Given the description of an element on the screen output the (x, y) to click on. 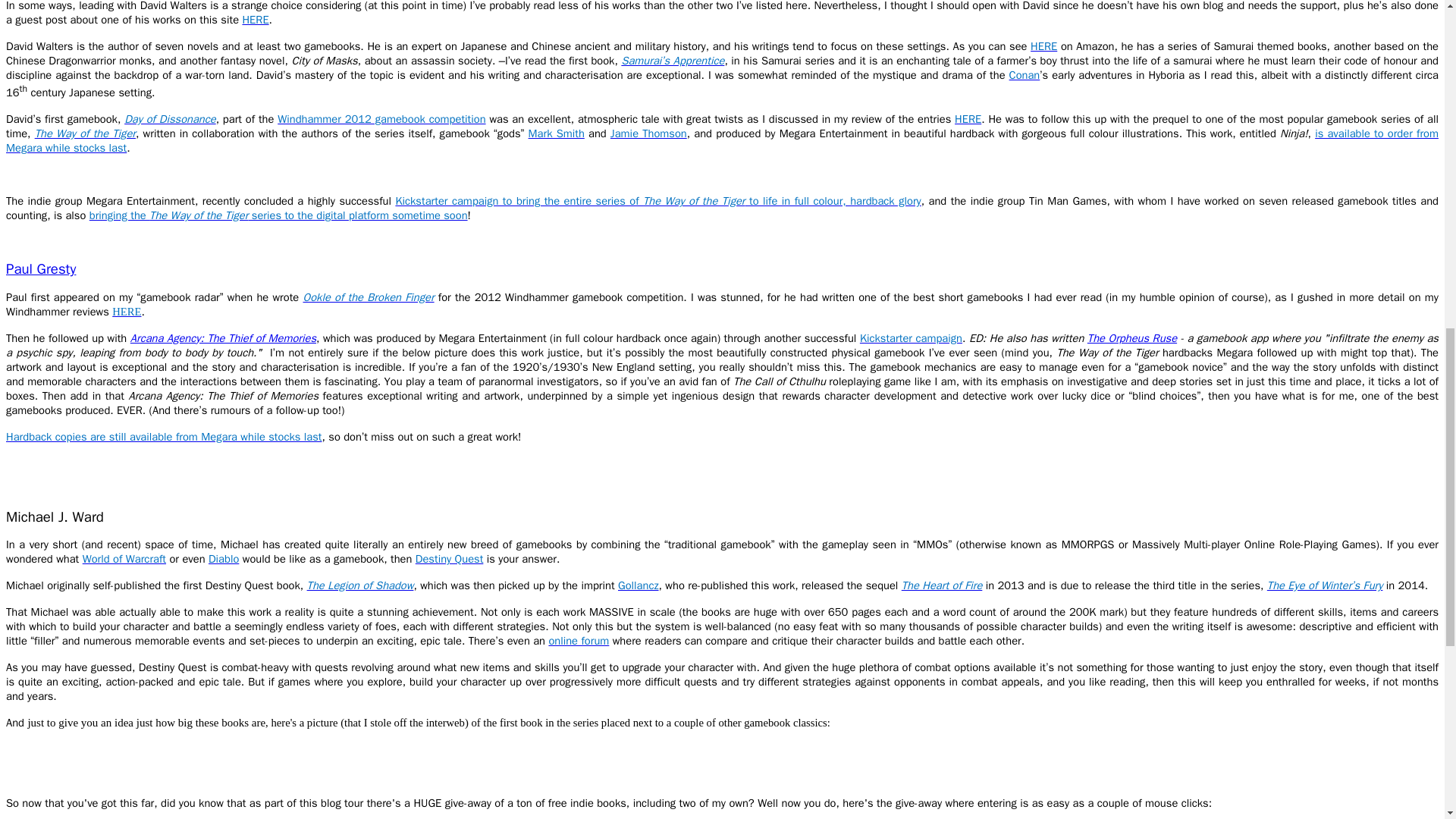
Conan (1025, 74)
Mark Smith (556, 133)
Windhammer 2012 gamebook competition (381, 119)
The Way of the Tiger (84, 133)
HERE (1043, 46)
Jamie Thomson (648, 133)
Day of Dissonance (169, 119)
HERE (968, 119)
2012 Windhammer Prize for Short Gamebook Fiction (381, 119)
Day of Dissonance by David Walters (169, 119)
HERE (254, 19)
